Given the description of an element on the screen output the (x, y) to click on. 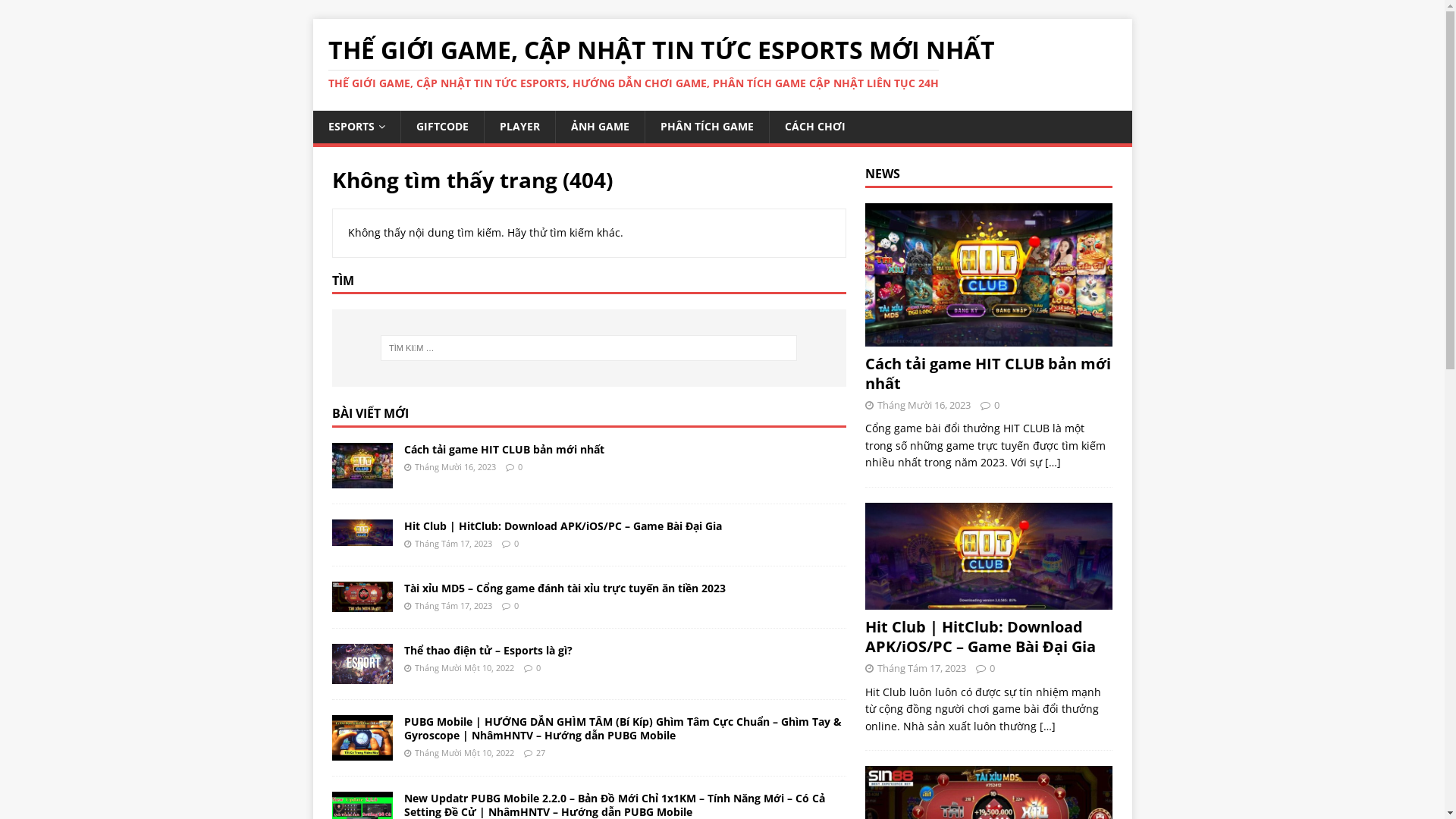
0 Element type: text (991, 667)
0 Element type: text (996, 404)
GIFTCODE Element type: text (441, 126)
27 Element type: text (539, 752)
0 Element type: text (537, 667)
ESPORTS Element type: text (355, 126)
0 Element type: text (516, 543)
0 Element type: text (519, 466)
PLAYER Element type: text (519, 126)
0 Element type: text (516, 605)
